Given the description of an element on the screen output the (x, y) to click on. 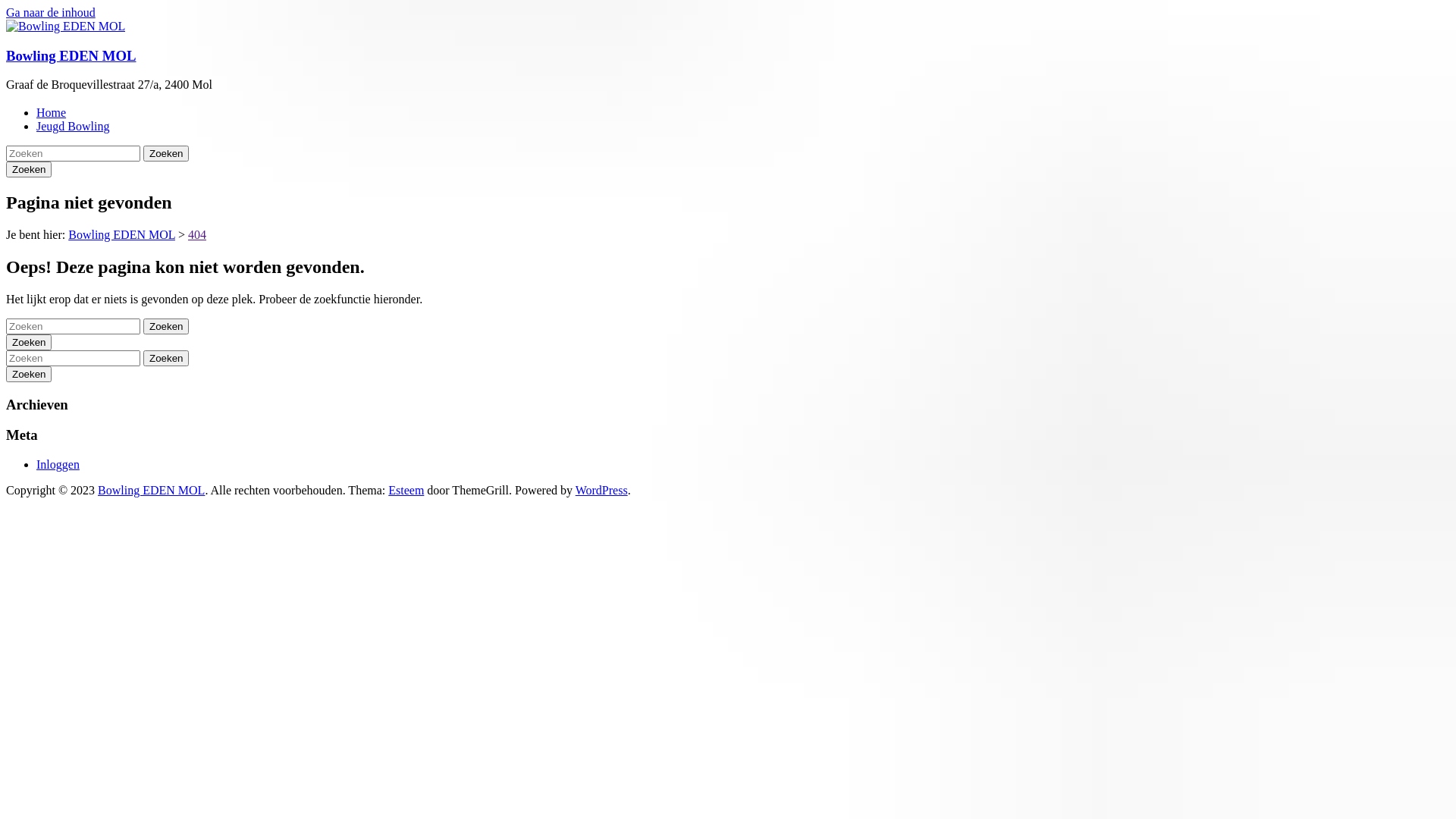
Zoeken Element type: text (28, 374)
Zoeken Element type: text (28, 342)
Esteem Element type: text (405, 489)
Inloggen Element type: text (57, 464)
Bowling EDEN MOL Element type: text (121, 234)
Bowling EDEN MOL Element type: text (70, 55)
Ga naar de inhoud Element type: text (50, 12)
Zoeken Element type: text (165, 153)
404 Element type: text (197, 234)
Bowling EDEN MOL Element type: text (150, 489)
Zoeken Element type: text (165, 358)
Zoeken Element type: text (28, 169)
WordPress Element type: text (601, 489)
Jeugd Bowling Element type: text (72, 125)
Home Element type: text (50, 112)
Zoeken Element type: text (165, 326)
